Given the description of an element on the screen output the (x, y) to click on. 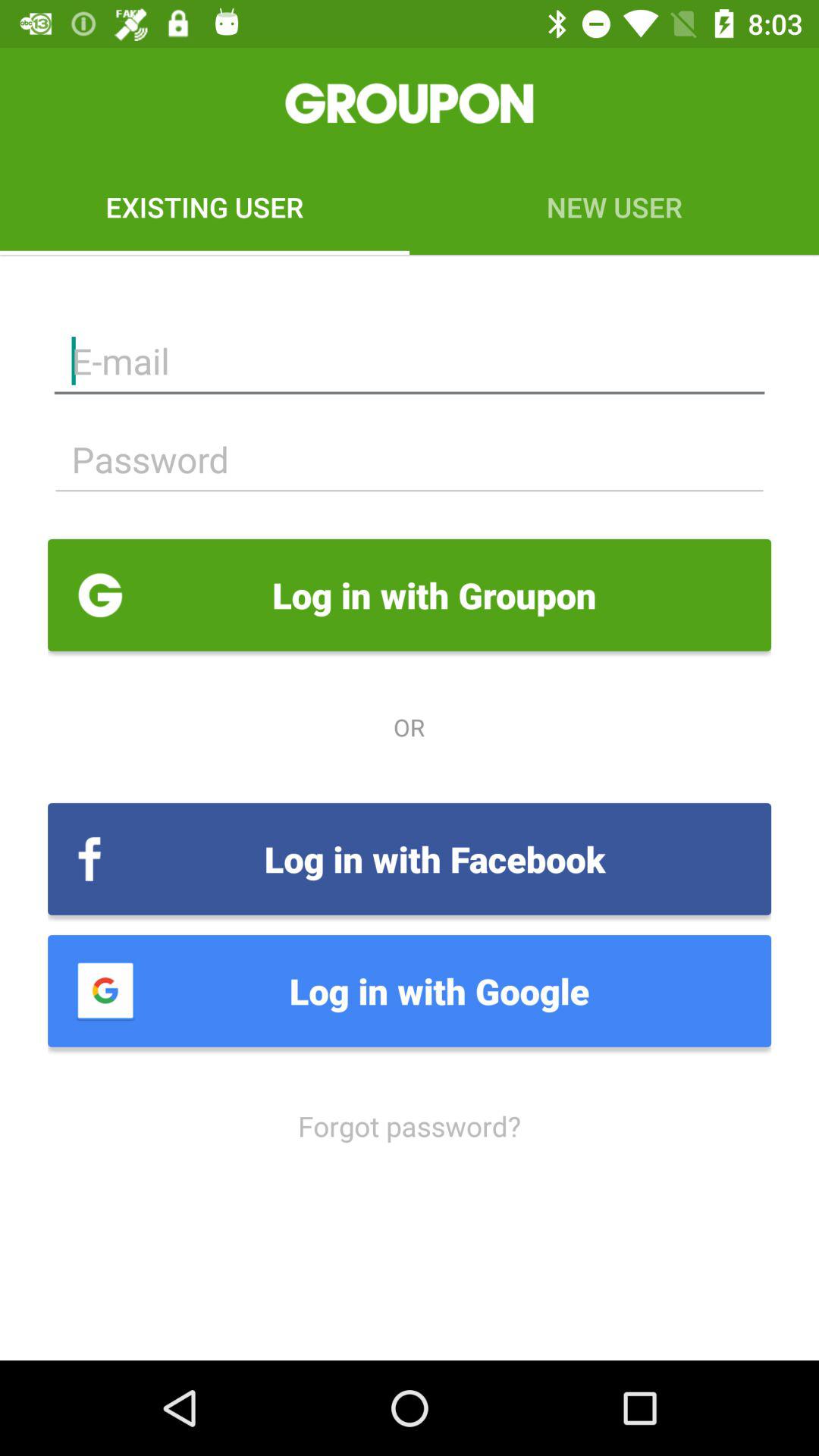
launch the app at the top left corner (204, 206)
